Given the description of an element on the screen output the (x, y) to click on. 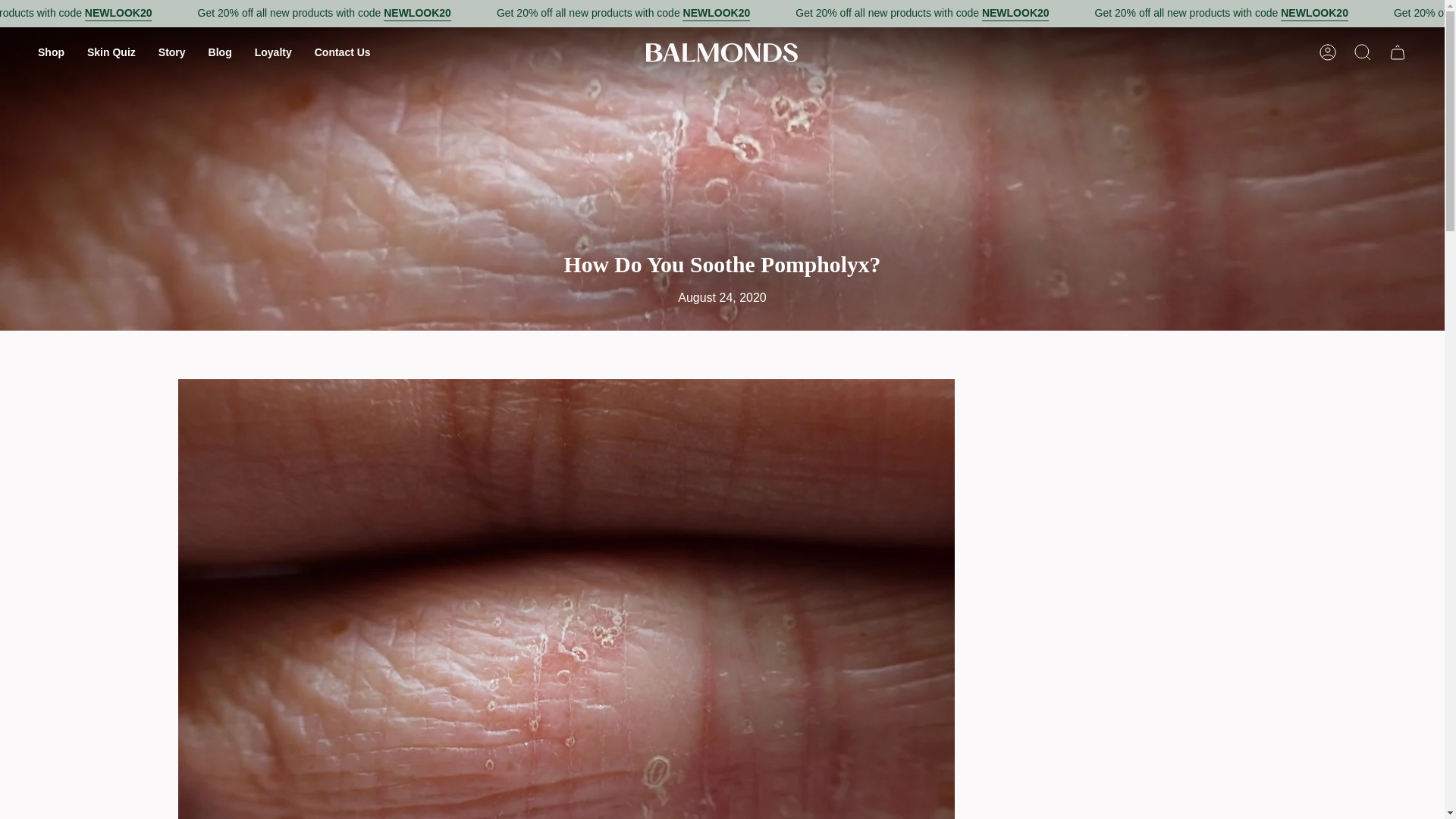
New Arrivals (193, 14)
Cart (1397, 52)
Shop (50, 52)
New Arrivals (1384, 14)
Skin Quiz (111, 52)
NEWLOOK20 (1132, 14)
New Arrivals (788, 14)
NEWLOOK20 (536, 14)
Search (1362, 52)
NEWLOOK20 (238, 14)
